Given the description of an element on the screen output the (x, y) to click on. 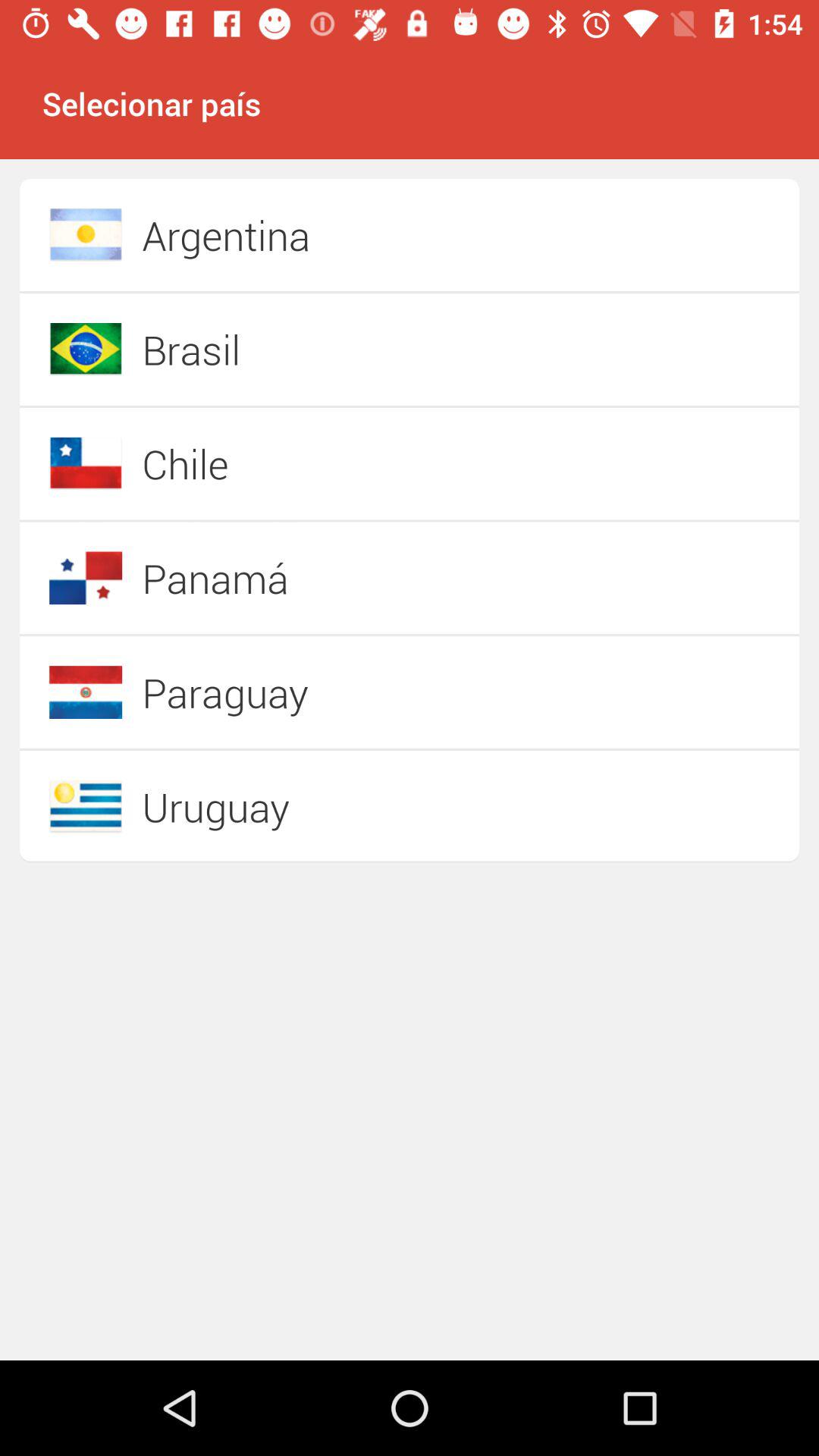
launch icon below the brasil icon (356, 463)
